Given the description of an element on the screen output the (x, y) to click on. 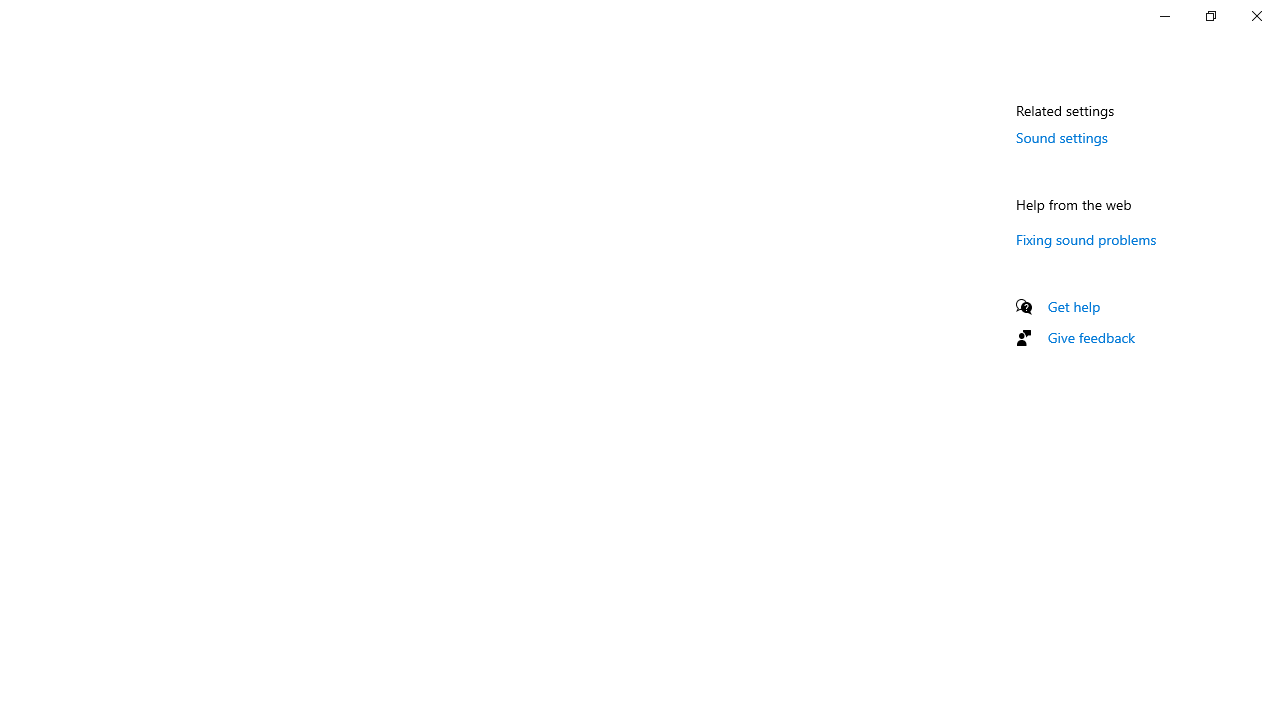
Sound settings (1062, 137)
Fixing sound problems (1086, 239)
